Given the description of an element on the screen output the (x, y) to click on. 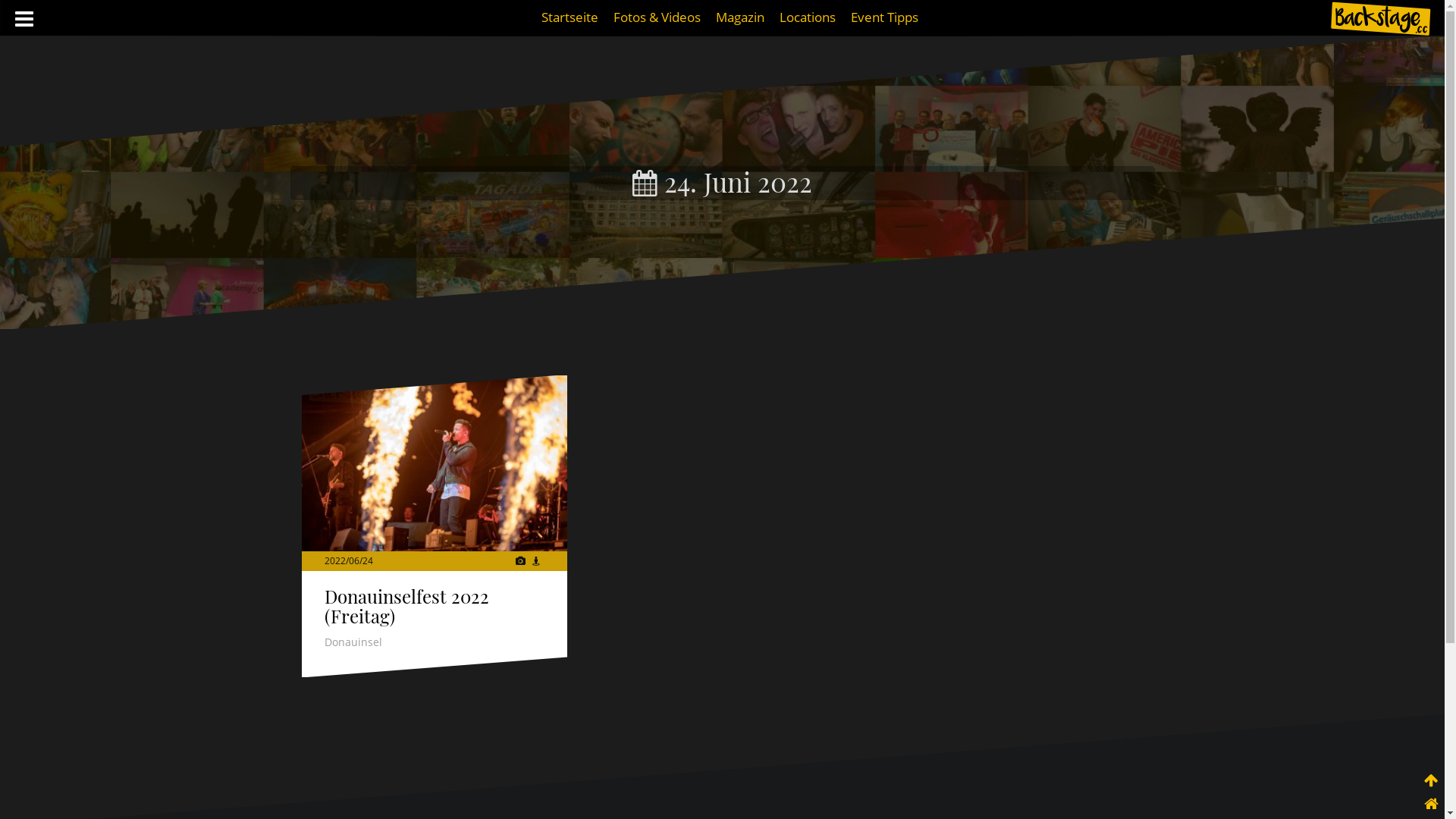
Event Tipps Element type: text (884, 16)
Donauinselfest 2022 (Freitag) Element type: hover (434, 463)
24. Juni 2022 Element type: text (721, 182)
06 Element type: text (353, 560)
Locations Element type: text (807, 16)
24 Element type: text (367, 560)
Suche Element type: text (26, 20)
BACKSTAGE.cc - behind the scenes Element type: hover (1380, 18)
Donauinselfest 2022 (Freitag) Element type: text (406, 605)
Fotos & Videos Element type: text (656, 16)
Magazin Element type: text (739, 16)
Donauinsel Element type: text (353, 641)
2022 Element type: text (334, 560)
2D Fotos Element type: hover (520, 560)
Startseite Element type: text (569, 16)
